Given the description of an element on the screen output the (x, y) to click on. 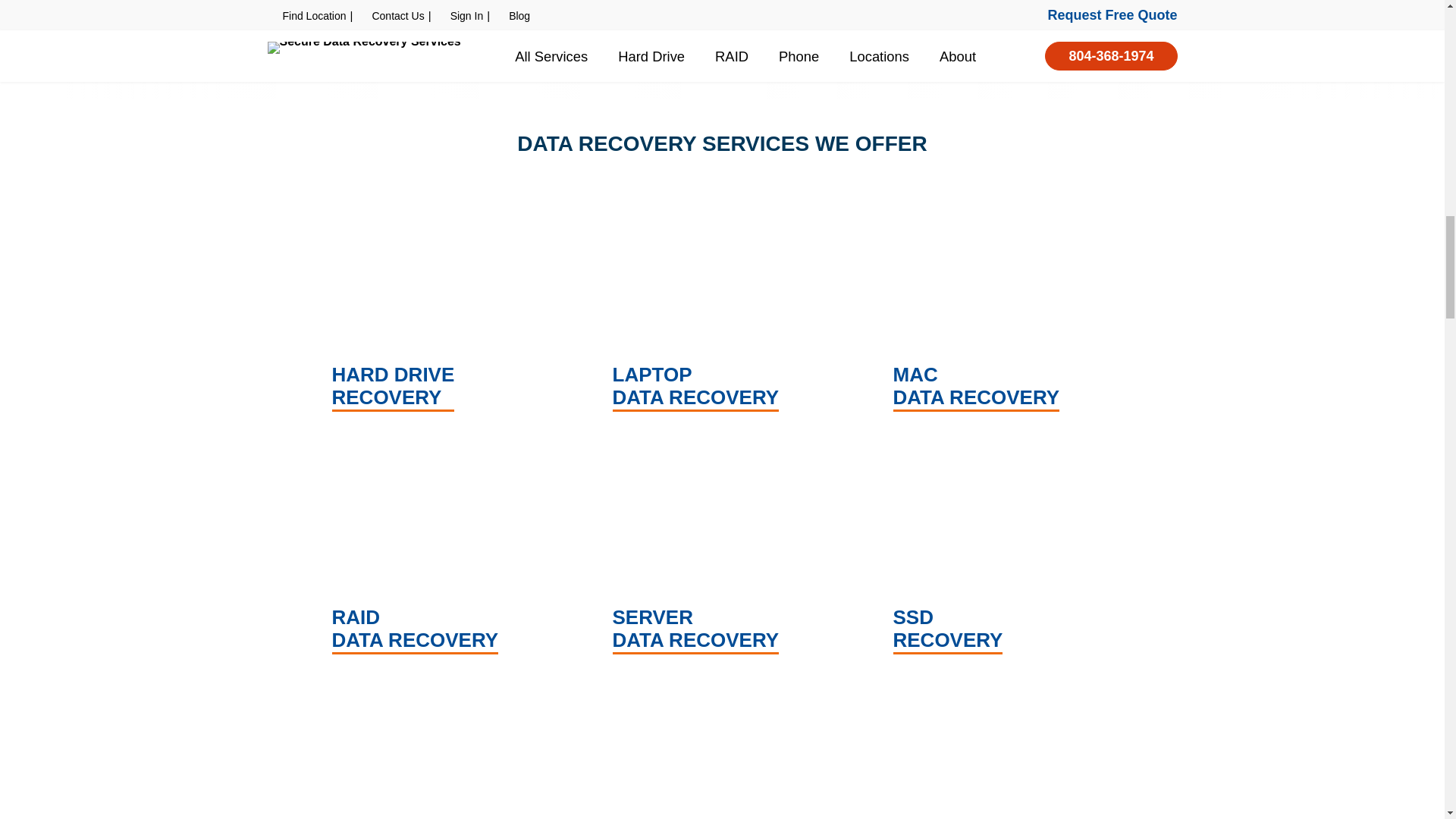
iPhone Data Recovery Richmond (441, 749)
Hard Drive Recovery Richmond (441, 309)
Mac Data Recovery Richmond (1002, 309)
Server Data Recovery Richmond (722, 551)
Raid Data Recovery Richmond (441, 551)
Desktop Data Recovery Richmond (722, 749)
SSD Recovery Richmond (1002, 551)
Laptop Data Recovery Richmond (722, 309)
